Given the description of an element on the screen output the (x, y) to click on. 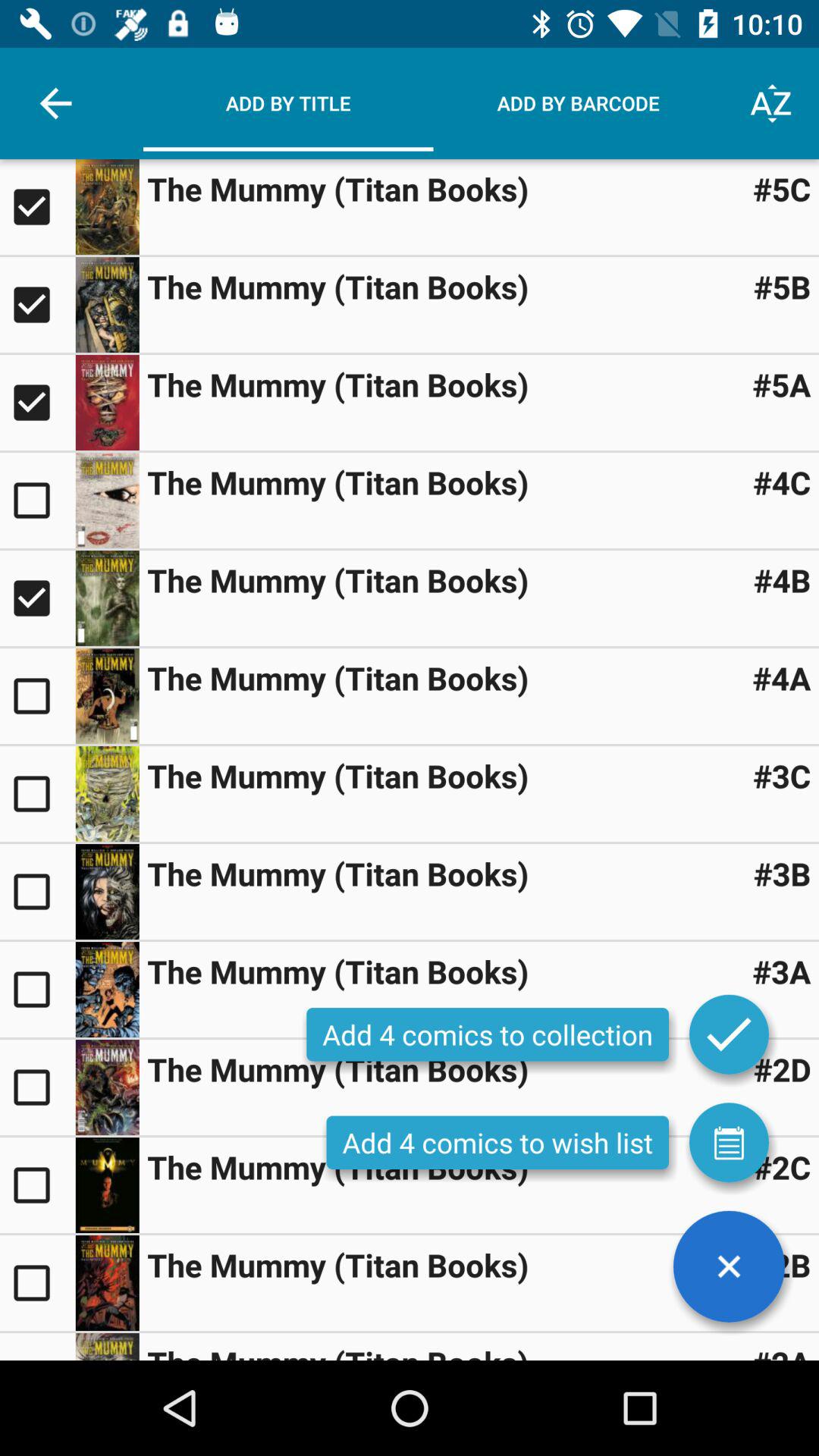
tap icon above the #5b item (782, 188)
